Given the description of an element on the screen output the (x, y) to click on. 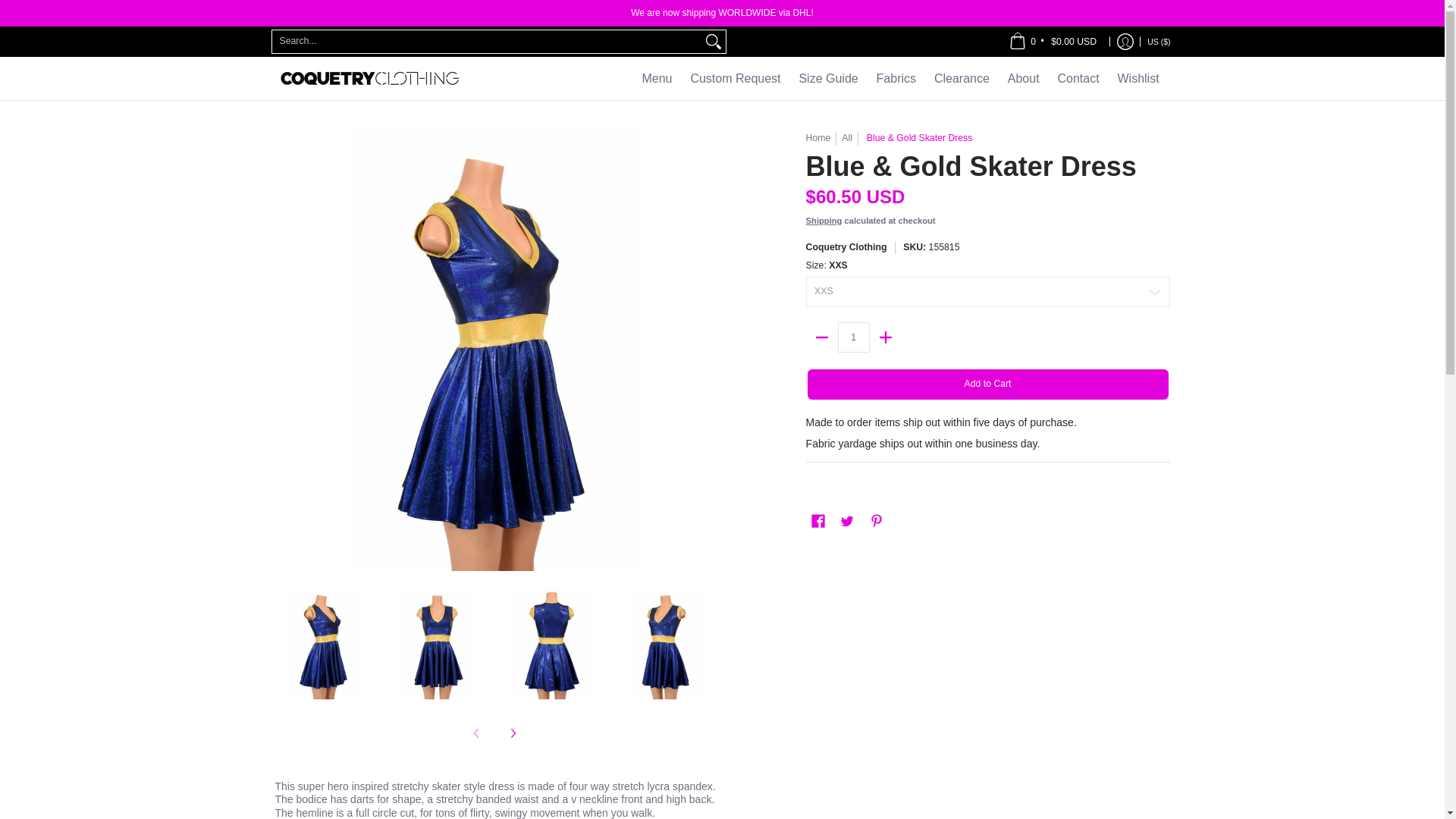
Coquetry Clothing (369, 77)
1 (853, 337)
CV (1076, 28)
CA (1067, 3)
Log in (1124, 41)
Menu (656, 77)
Cart (1053, 41)
BQ (1099, 58)
